Given the description of an element on the screen output the (x, y) to click on. 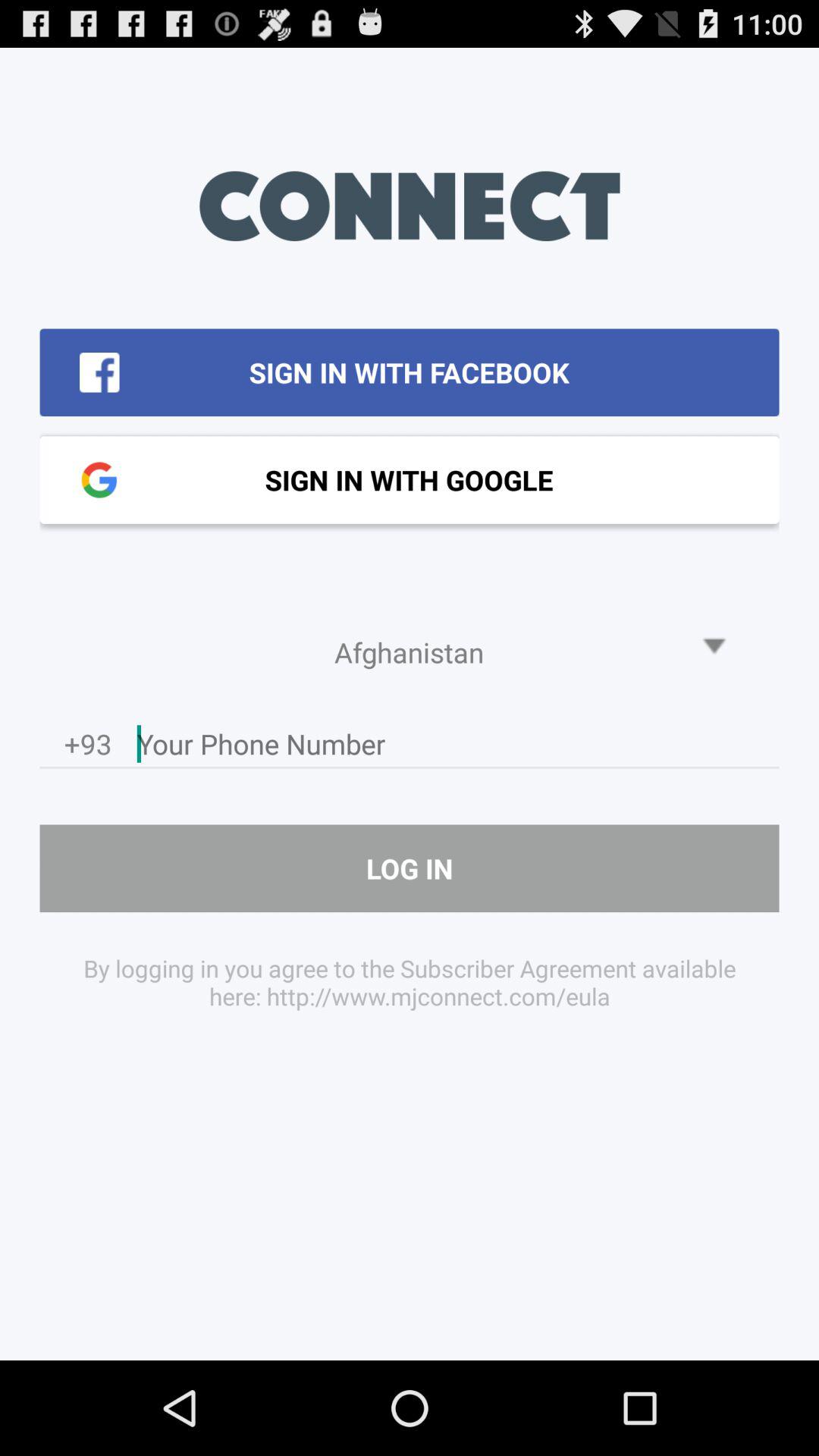
press icon below the +93 icon (409, 868)
